Given the description of an element on the screen output the (x, y) to click on. 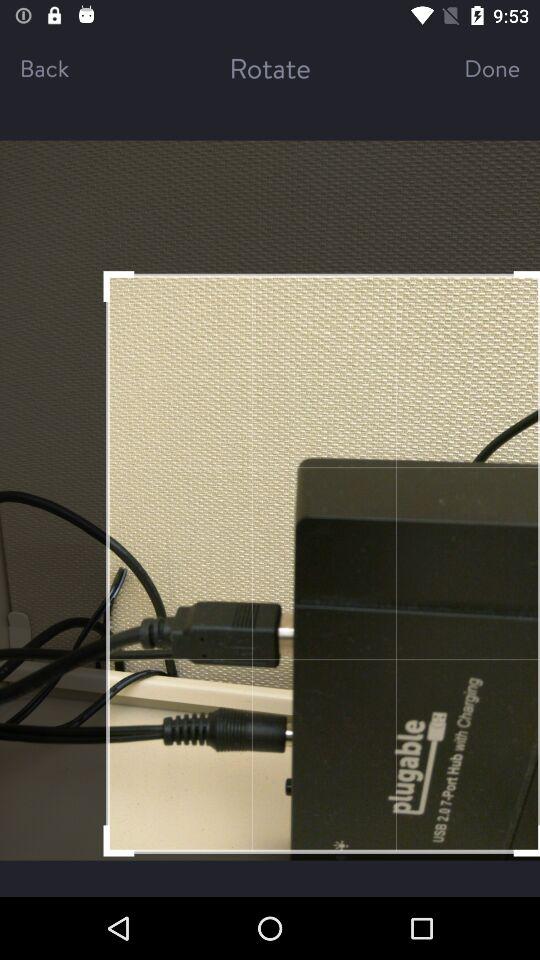
turn off icon to the left of rotate icon (65, 67)
